Given the description of an element on the screen output the (x, y) to click on. 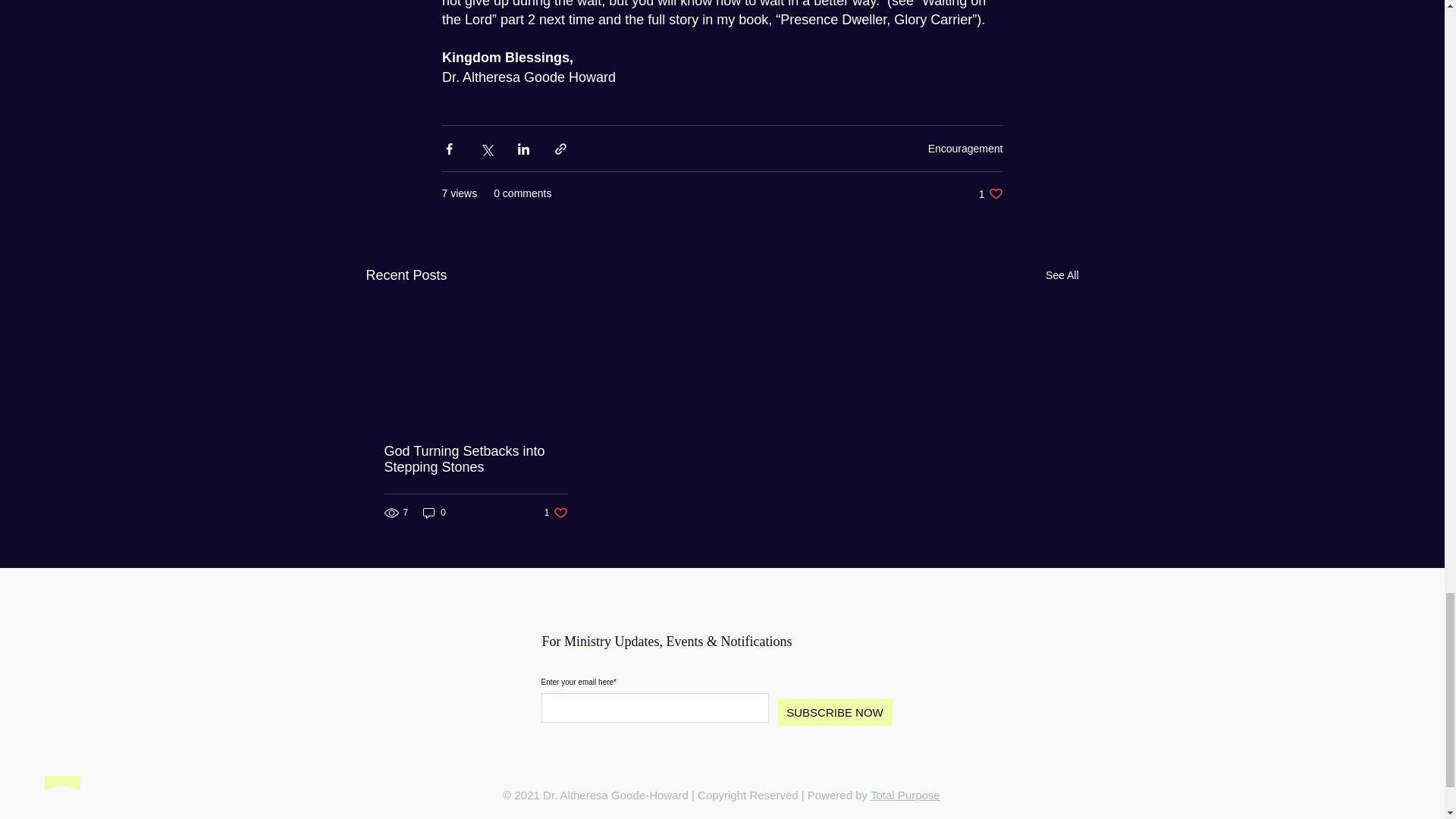
SUBSCRIBE NOW (834, 712)
See All (1061, 275)
Total Purpose (555, 513)
0 (905, 794)
Encouragement (990, 193)
God Turning Setbacks into Stepping Stones (434, 513)
